Given the description of an element on the screen output the (x, y) to click on. 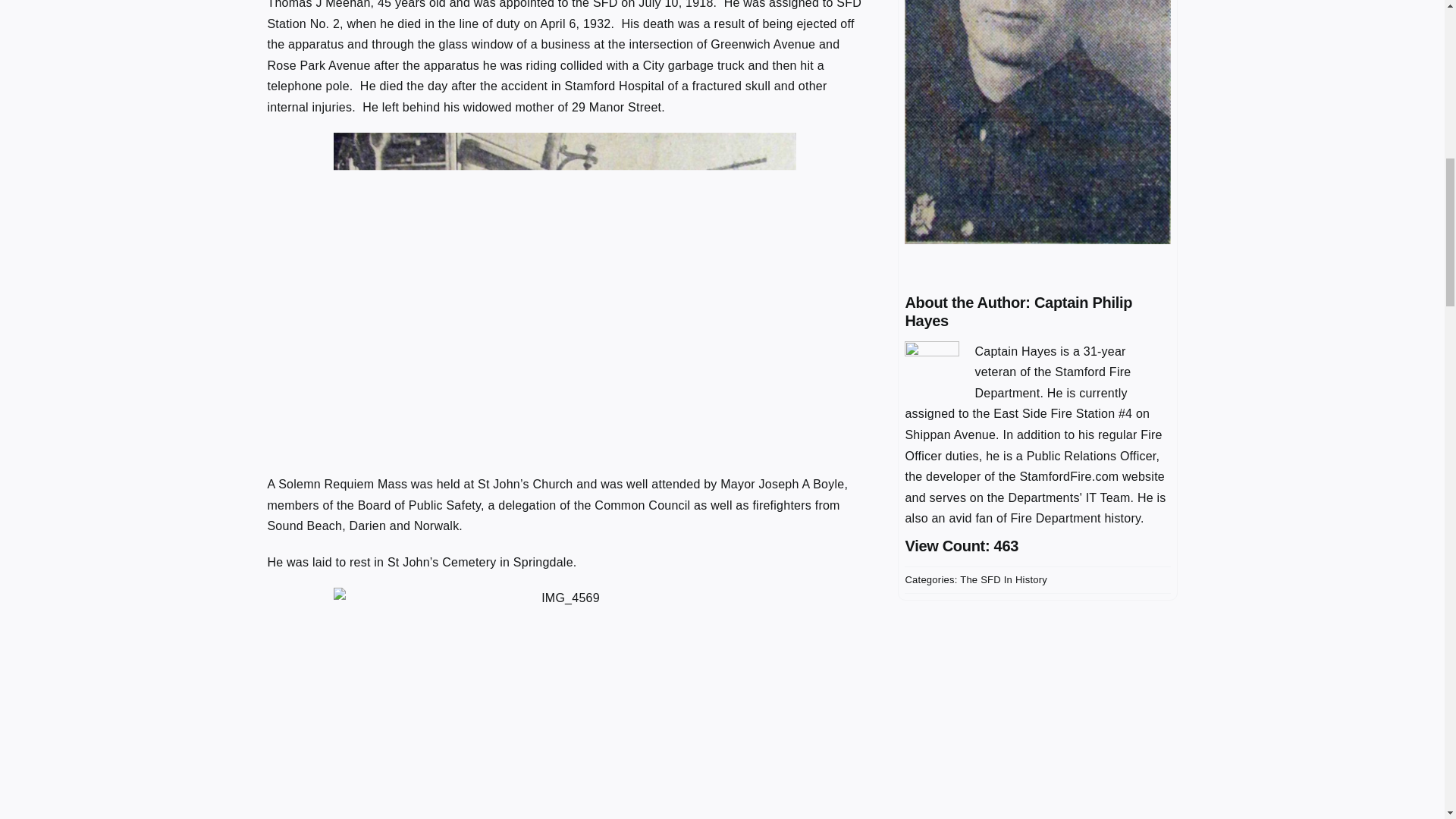
FF Mehan (1037, 122)
